Given the description of an element on the screen output the (x, y) to click on. 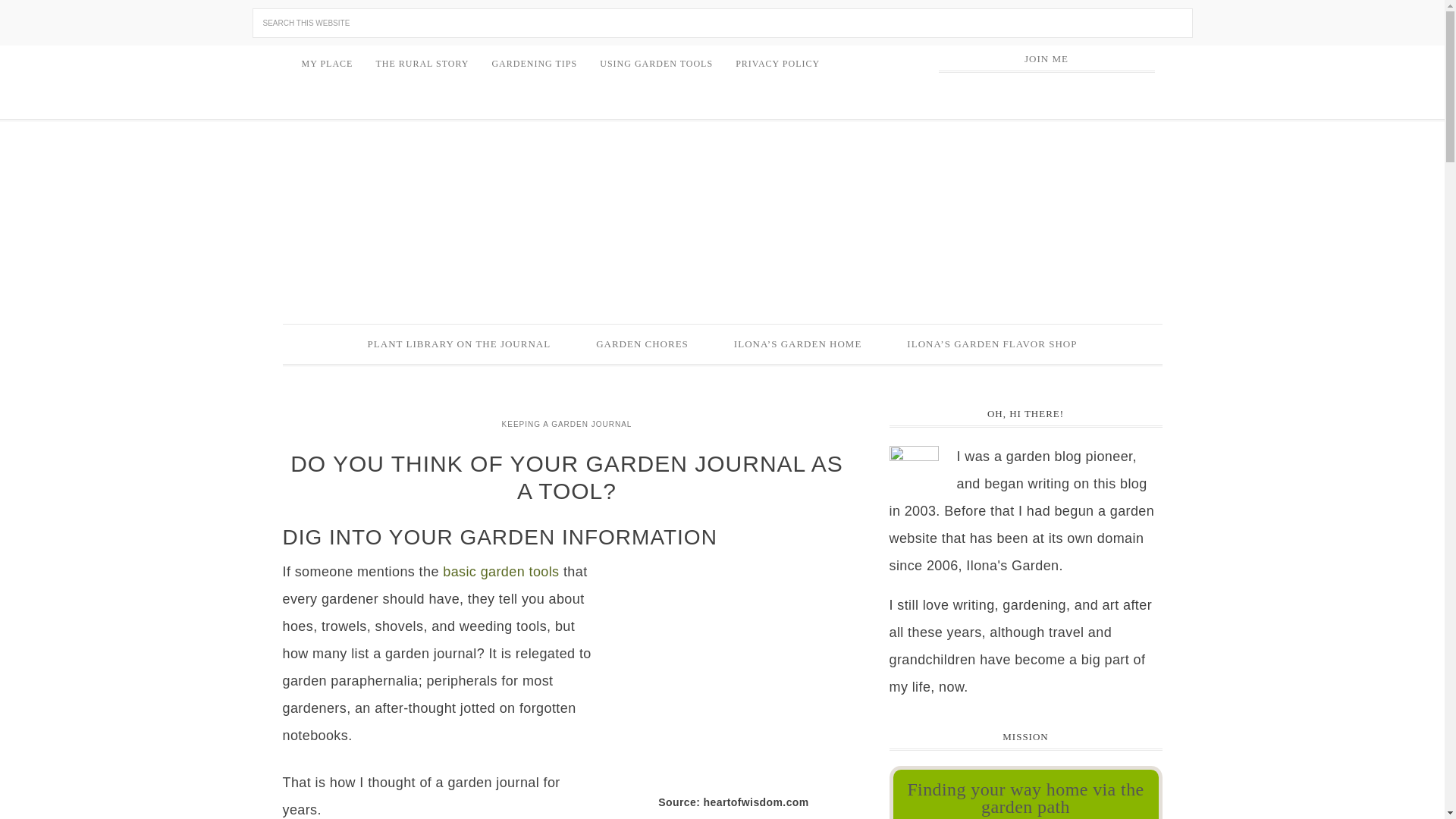
GARDEN CHORES (642, 343)
Things To Do (642, 343)
USING GARDEN TOOLS (655, 63)
PLANT LIBRARY ON THE JOURNAL (459, 343)
PRIVACY POLICY (777, 63)
MY PLACE (326, 63)
KEEPING A GARDEN JOURNAL (566, 424)
basic garden tools (500, 571)
